Given the description of an element on the screen output the (x, y) to click on. 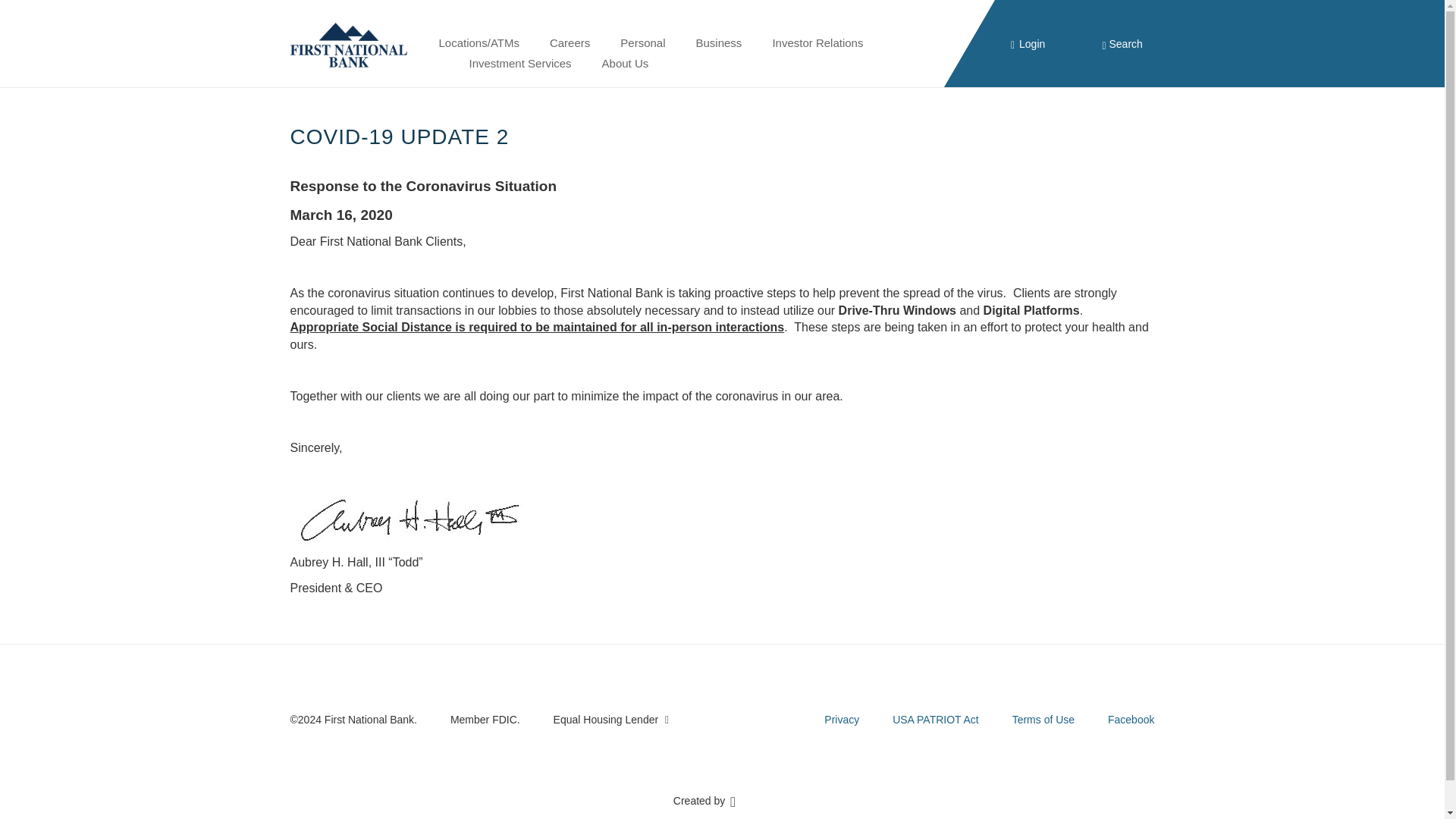
First National Bank, Altavista, VA (351, 43)
Investor Relations (817, 43)
Investment Services (519, 63)
Careers (569, 43)
